Given the description of an element on the screen output the (x, y) to click on. 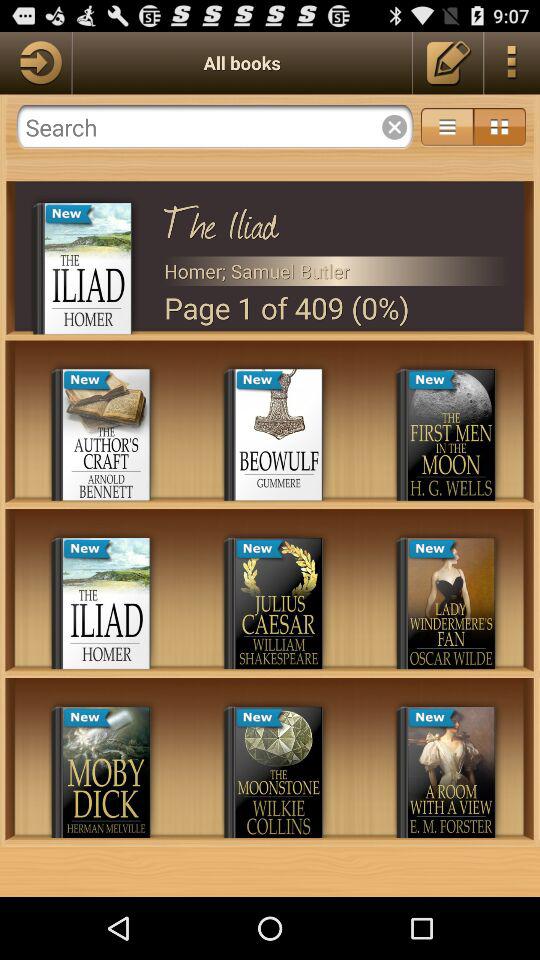
tap the iliad (336, 219)
